Given the description of an element on the screen output the (x, y) to click on. 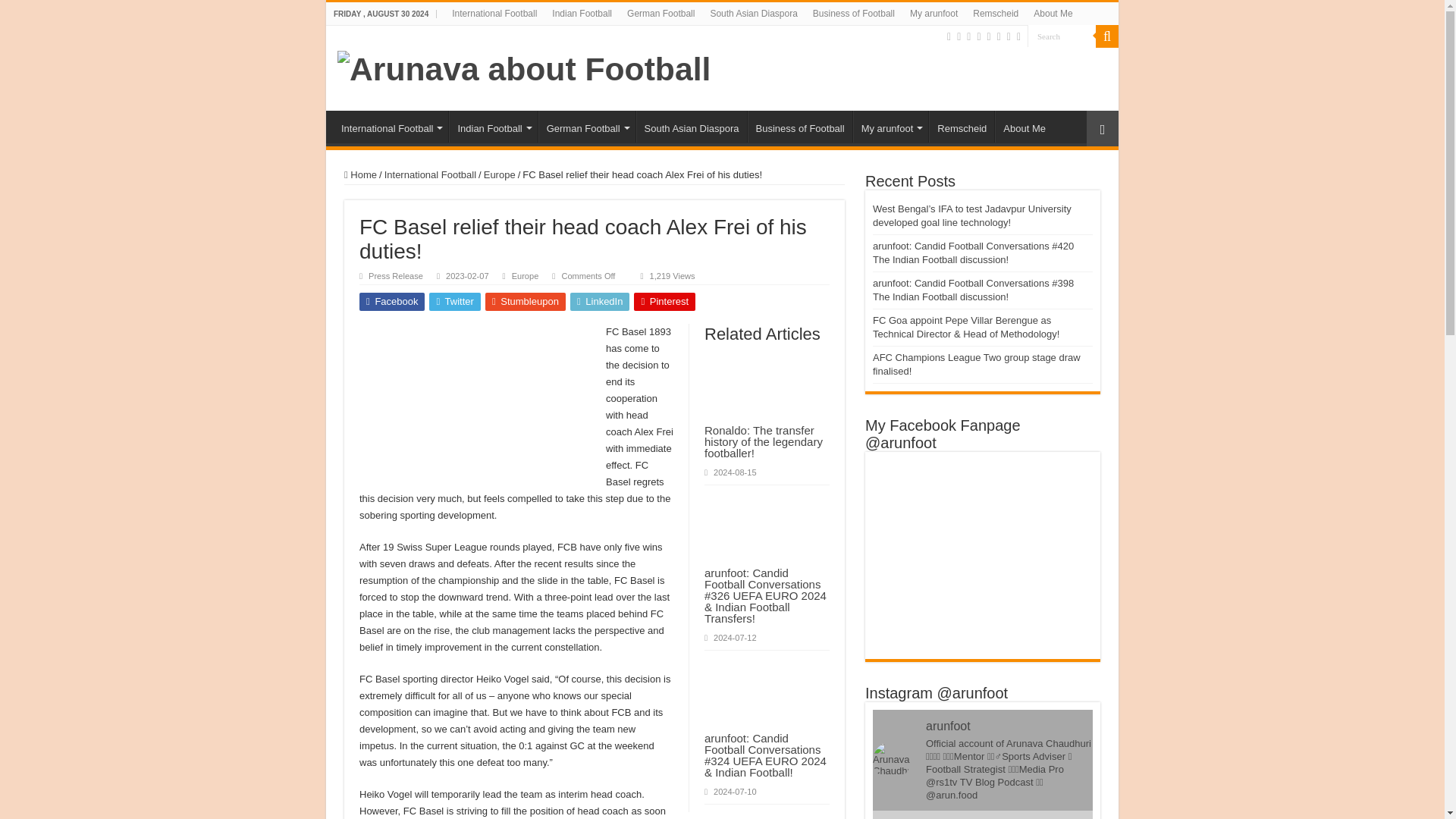
My arunfoot (933, 13)
Remscheid (995, 13)
Search (1061, 35)
Business of Football (853, 13)
International Football (390, 126)
Indian Football (582, 13)
German Football (660, 13)
South Asian Diaspora (753, 13)
Search (1107, 36)
International Football (494, 13)
